Given the description of an element on the screen output the (x, y) to click on. 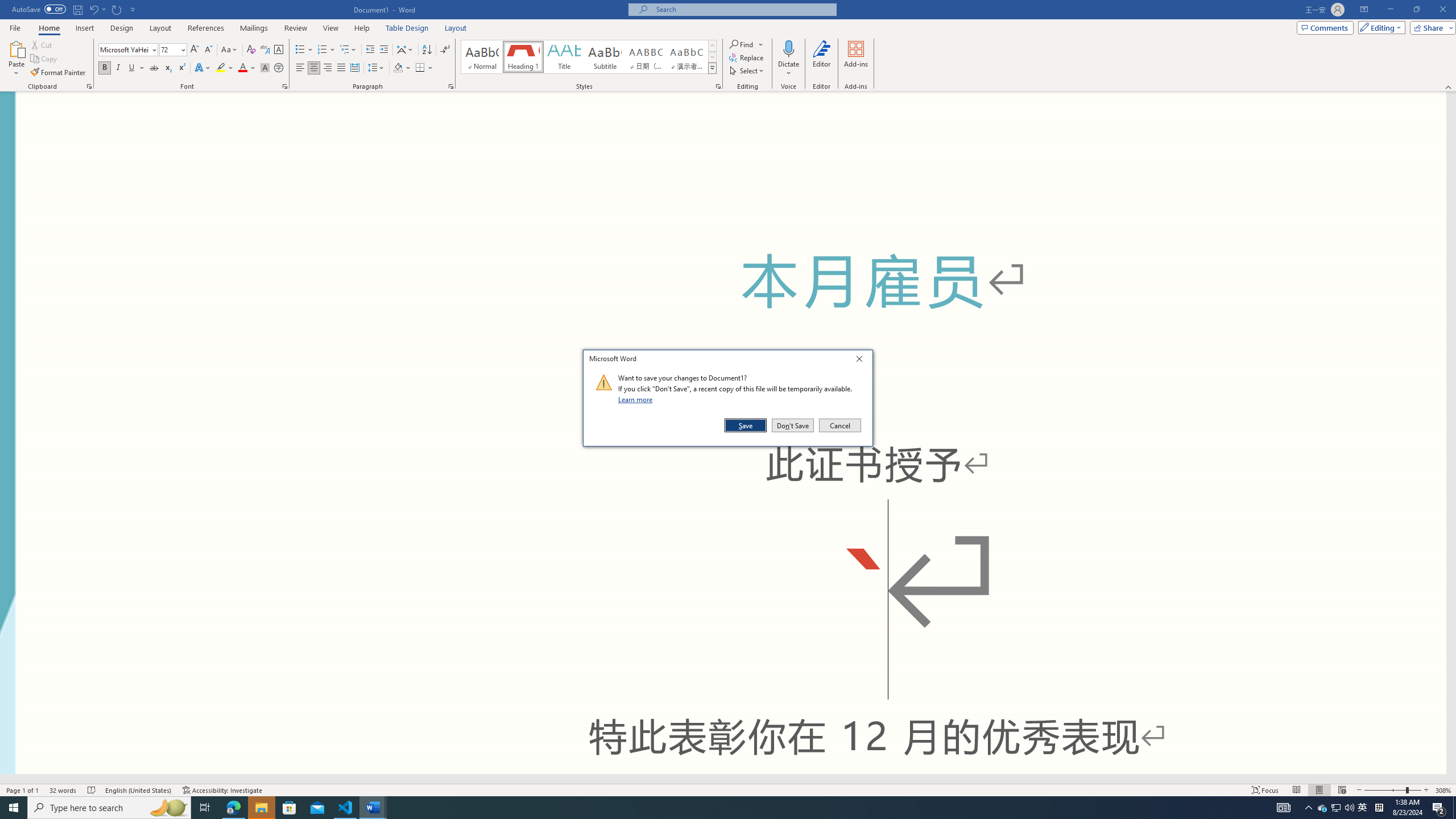
Word - 2 running windows (373, 807)
Show/Hide Editing Marks (444, 49)
Cancel (839, 425)
Running applications (700, 807)
Enclose Characters... (278, 67)
User Promoted Notification Area (1336, 807)
Undo Grow Font (92, 9)
